Given the description of an element on the screen output the (x, y) to click on. 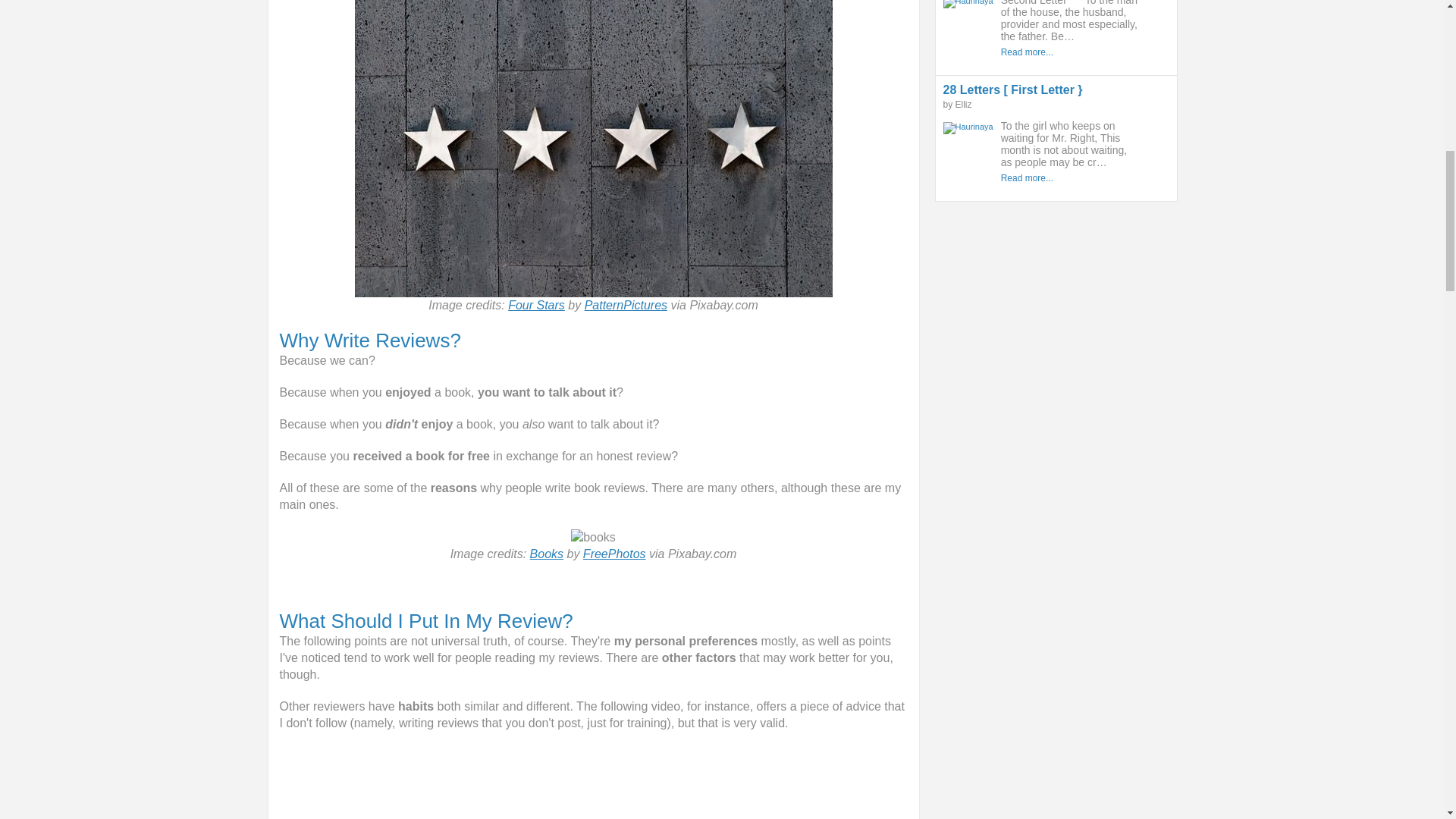
Books (546, 553)
FreePhotos (614, 553)
PatternPictures (625, 305)
Four Stars (536, 305)
